Given the description of an element on the screen output the (x, y) to click on. 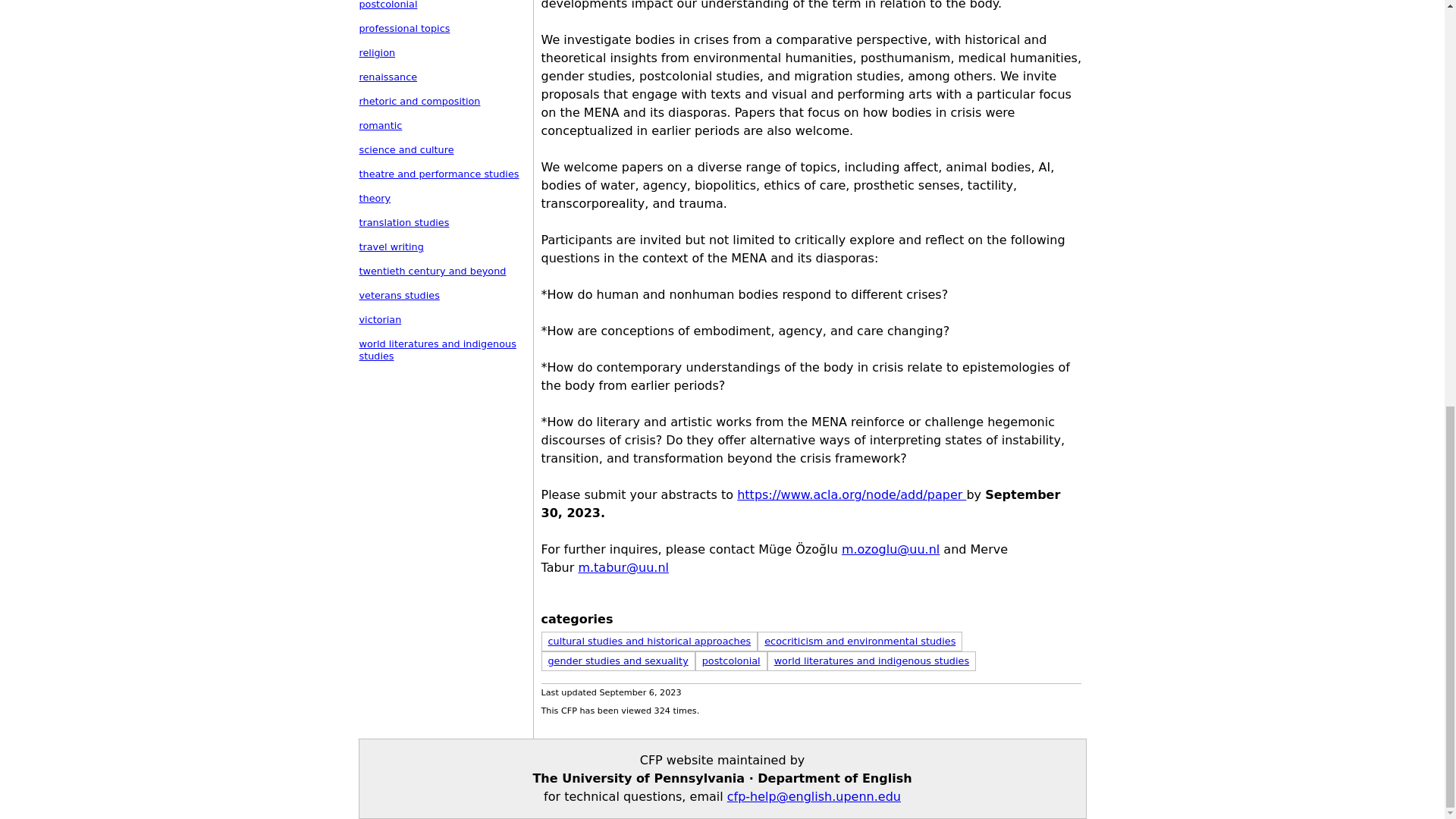
gender studies and sexuality (617, 660)
postcolonial (730, 660)
world literatures and indigenous studies (871, 660)
ecocriticism and environmental studies (859, 641)
cultural studies and historical approaches (649, 641)
